Given the description of an element on the screen output the (x, y) to click on. 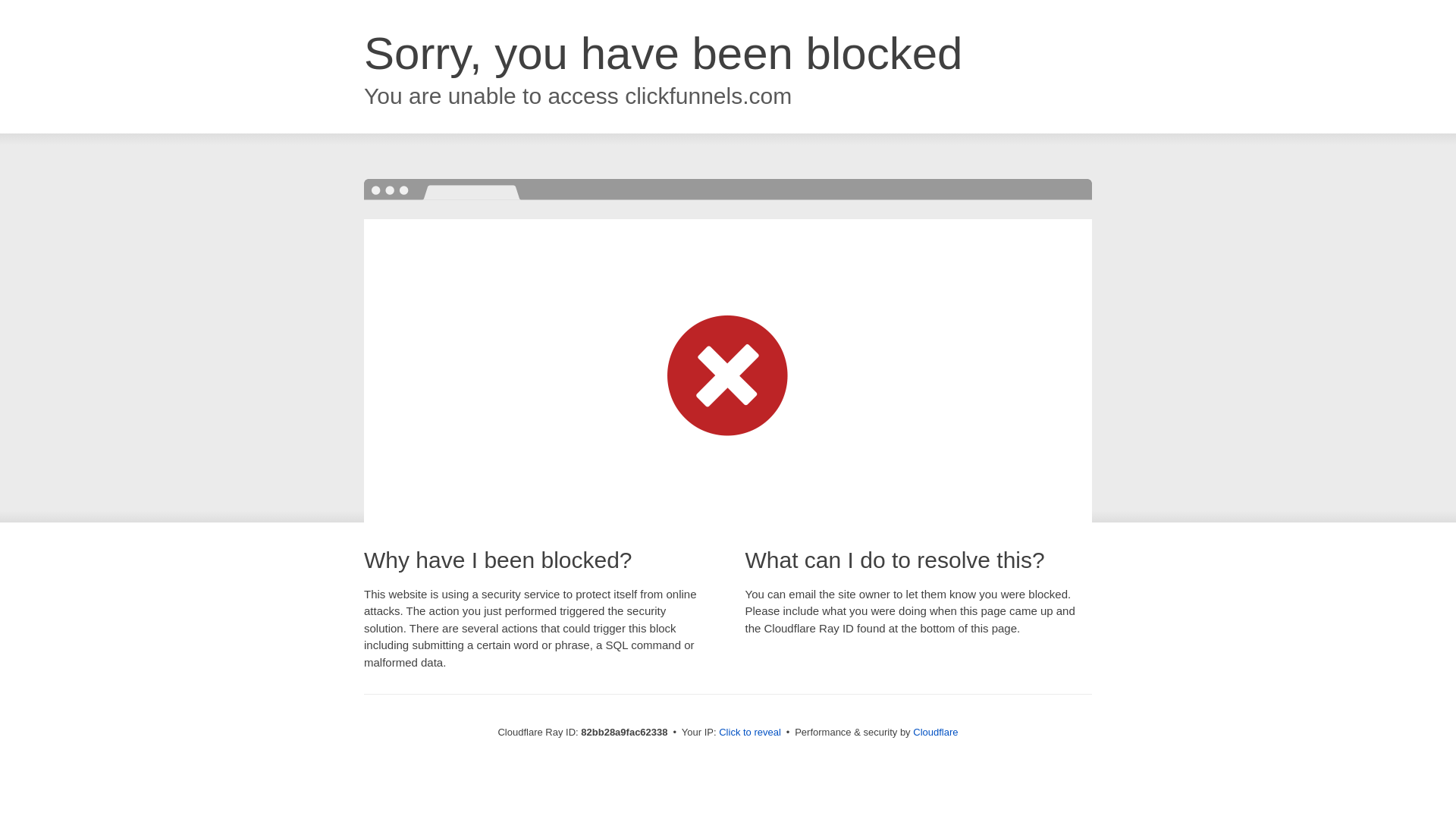
Cloudflare Element type: text (935, 731)
Click to reveal Element type: text (749, 732)
